Given the description of an element on the screen output the (x, y) to click on. 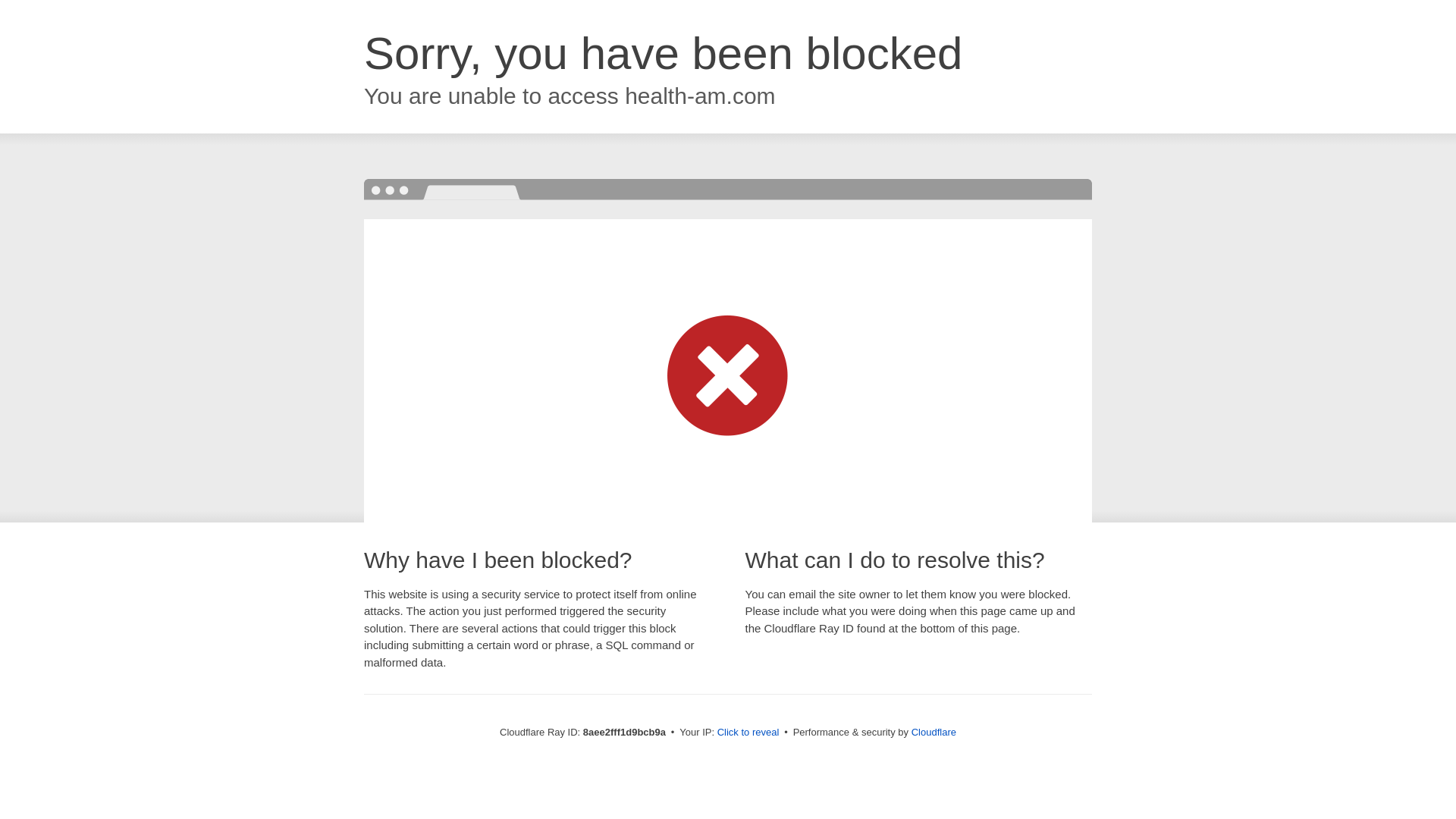
Click to reveal (747, 732)
Cloudflare (933, 731)
